Given the description of an element on the screen output the (x, y) to click on. 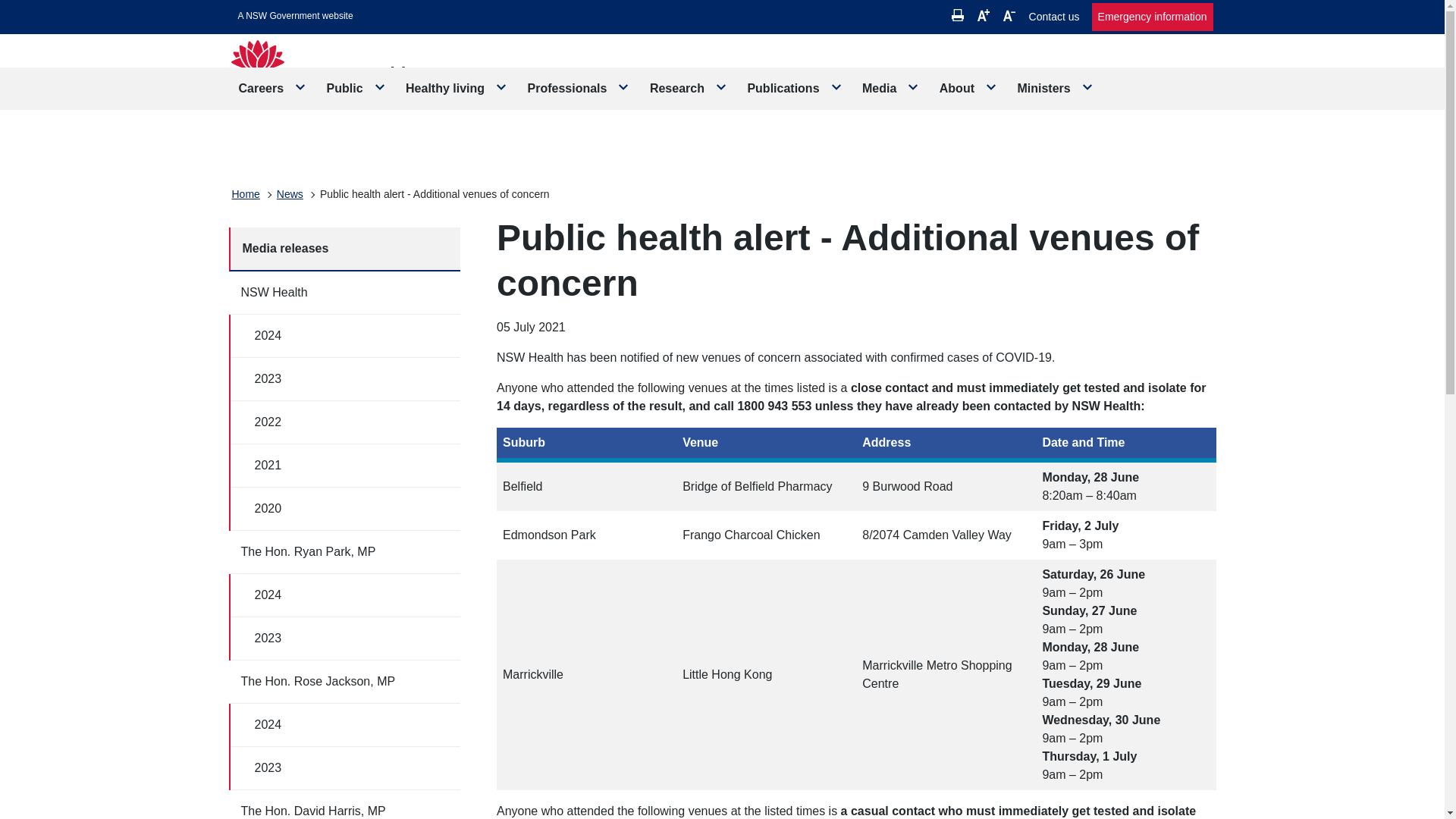
Go to homepage (347, 79)
Public (356, 88)
Decrease Font Size (1008, 15)
Print Page (957, 15)
Increase Font Size (983, 15)
Contact us (1054, 17)
Careers (272, 88)
Emergency information (1152, 17)
Home (245, 193)
Skip to content (296, 15)
